Given the description of an element on the screen output the (x, y) to click on. 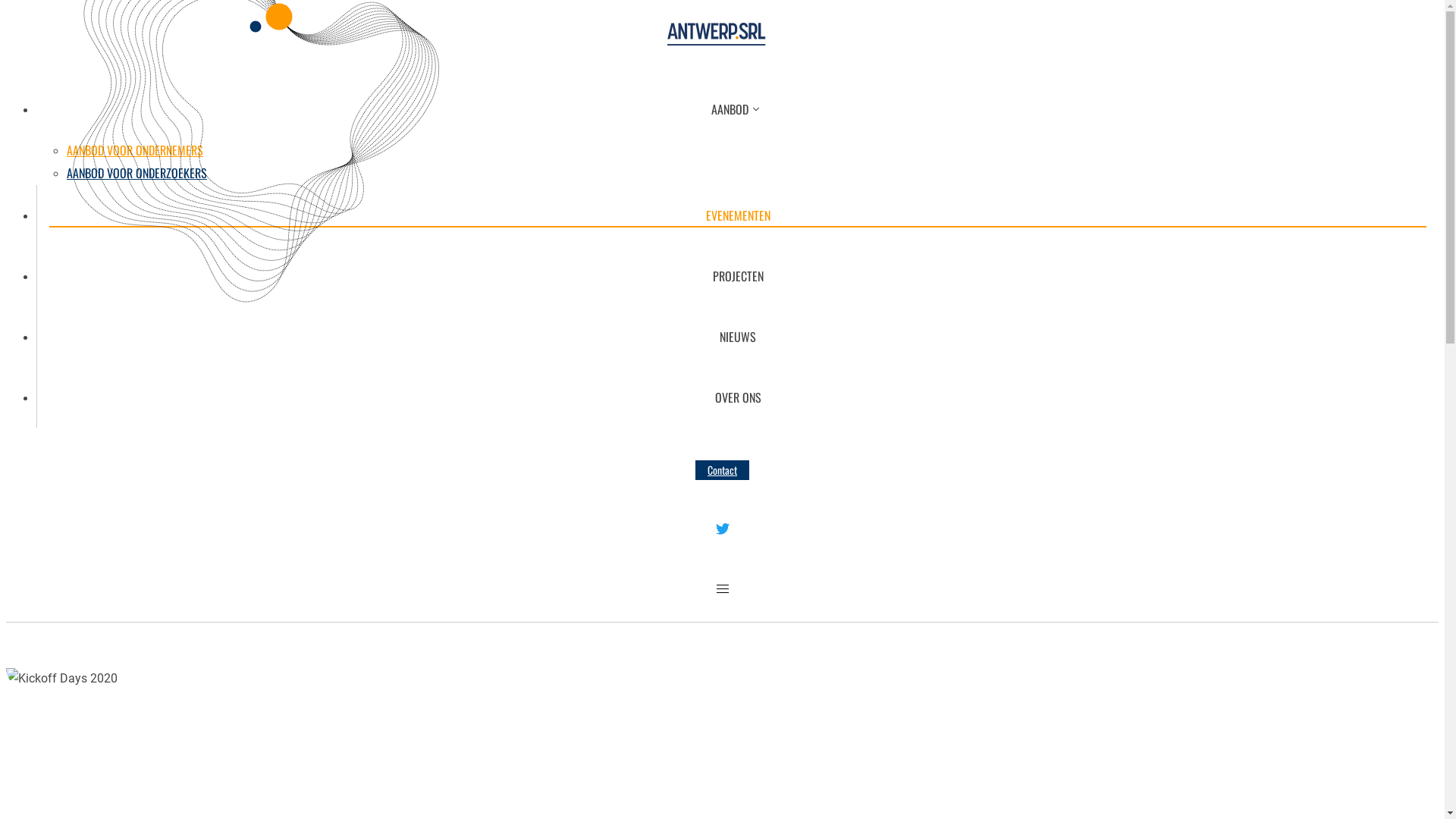
Contact Element type: text (722, 470)
PROJECTEN Element type: text (737, 275)
OVER ONS Element type: text (737, 397)
EVENEMENTEN Element type: text (737, 215)
AANBOD Element type: text (737, 108)
AANBOD VOOR ONDERZOEKERS Element type: text (136, 172)
NIEUWS Element type: text (737, 336)
AANBOD VOOR ONDERNEMERS Element type: text (134, 150)
Twitter AntwerpSRL Element type: hover (721, 530)
